Given the description of an element on the screen output the (x, y) to click on. 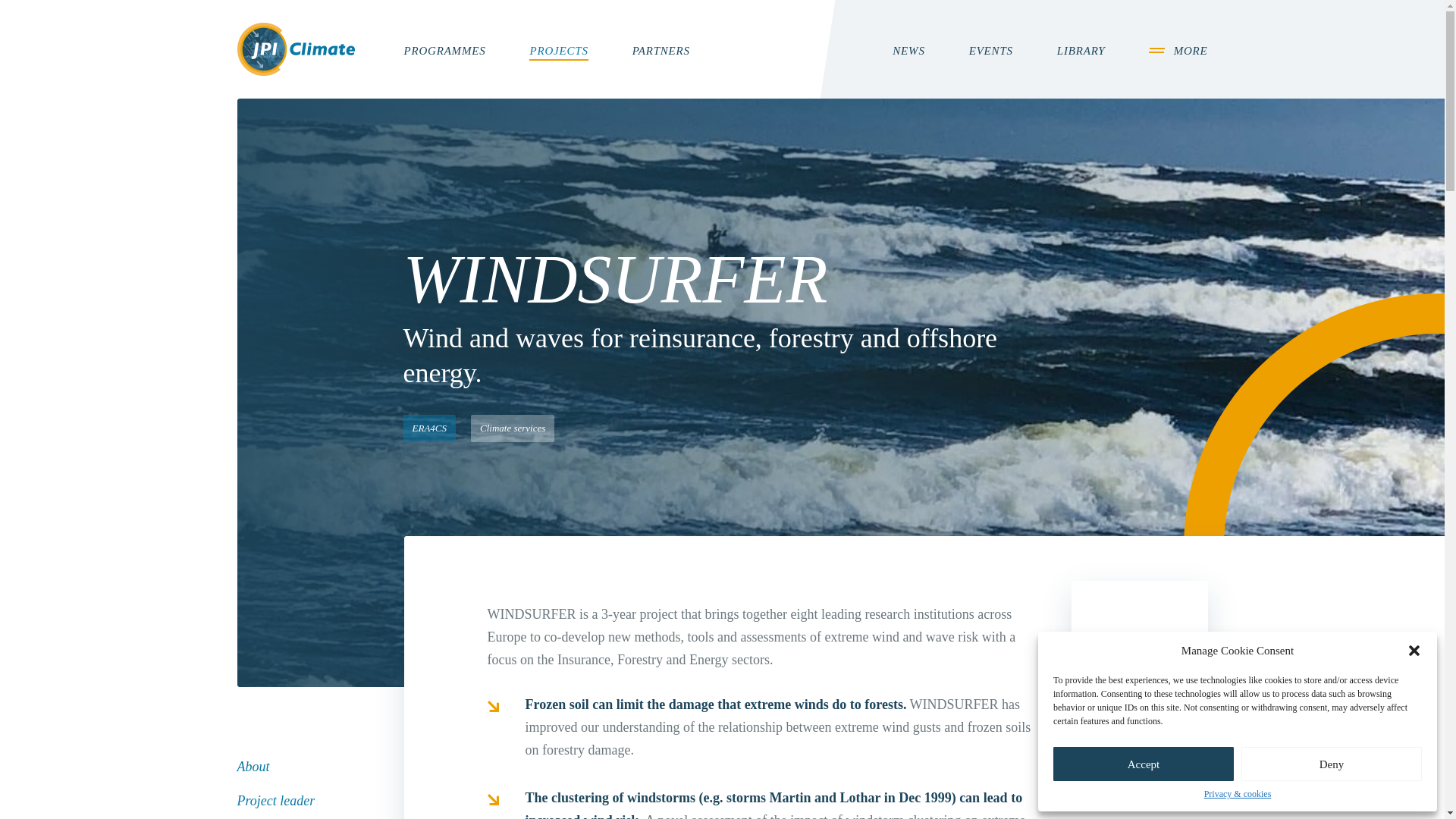
Deny (1331, 763)
PROGRAMMES (443, 51)
LIBRARY (1081, 51)
Project leader (280, 800)
Project leader (280, 800)
About (258, 766)
PARTNERS (660, 51)
NEWS (908, 51)
EVENTS (991, 51)
PROJECTS (558, 51)
Accept (1142, 763)
About (258, 766)
